Given the description of an element on the screen output the (x, y) to click on. 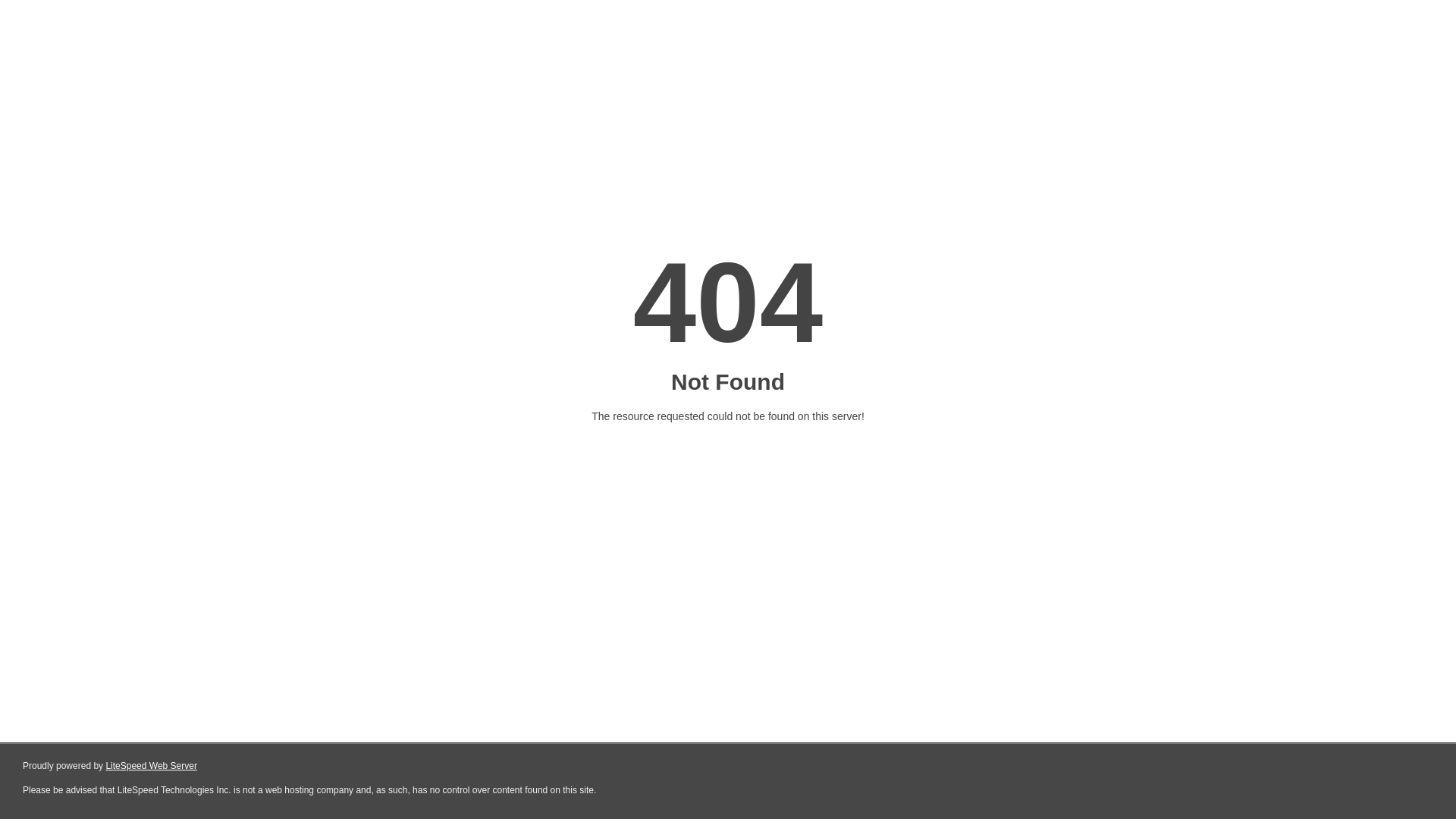
LiteSpeed Web Server Element type: text (151, 765)
